Given the description of an element on the screen output the (x, y) to click on. 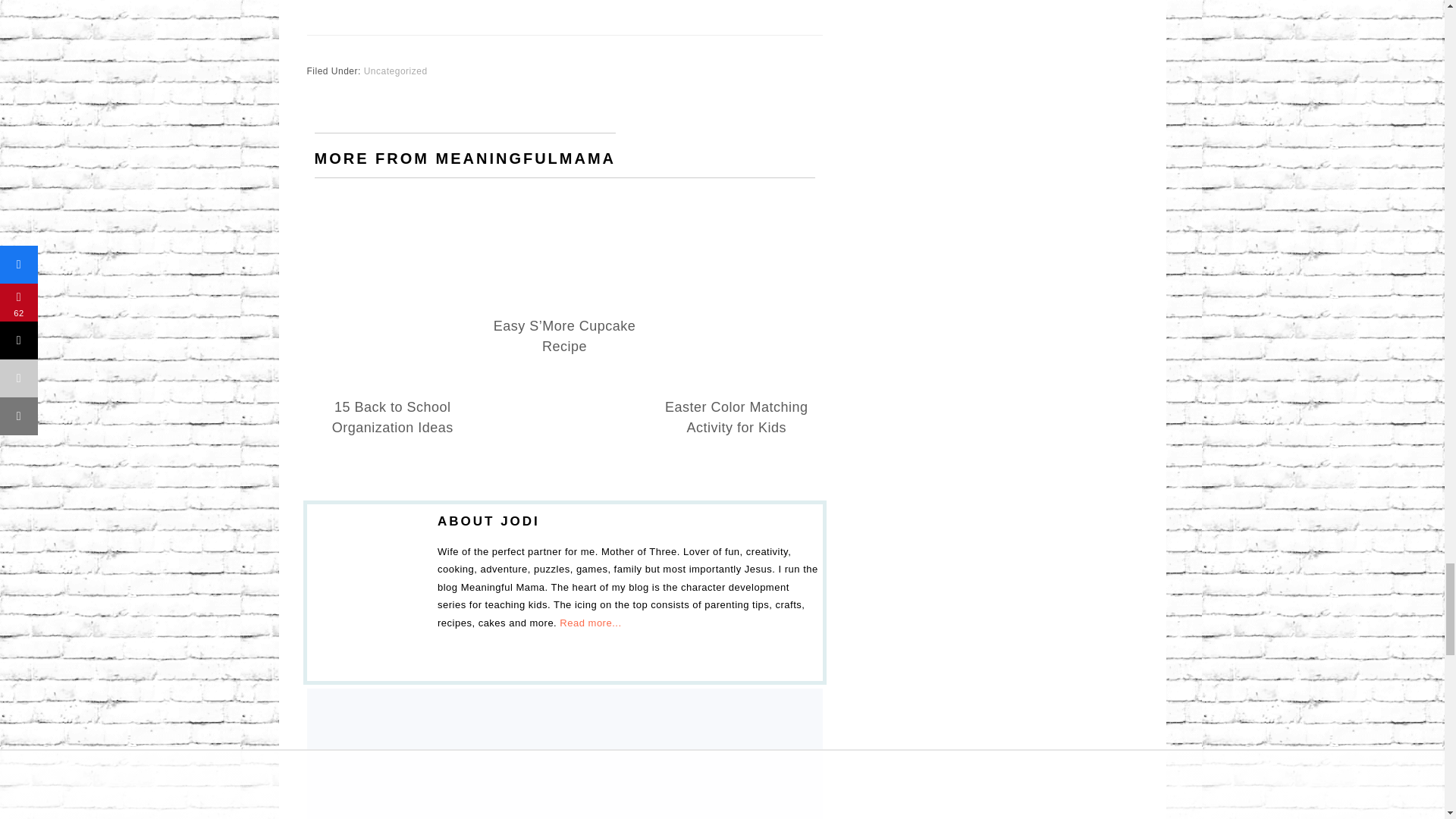
Permanent Link to 15 Back to School Organization Ideas (392, 216)
Permanent Link to Easter Color Matching Activity for Kids (735, 216)
Permanent Link to Easter Color Matching Activity for Kids (736, 416)
Permanent Link to 15 Back to School Organization Ideas (391, 416)
